Given the description of an element on the screen output the (x, y) to click on. 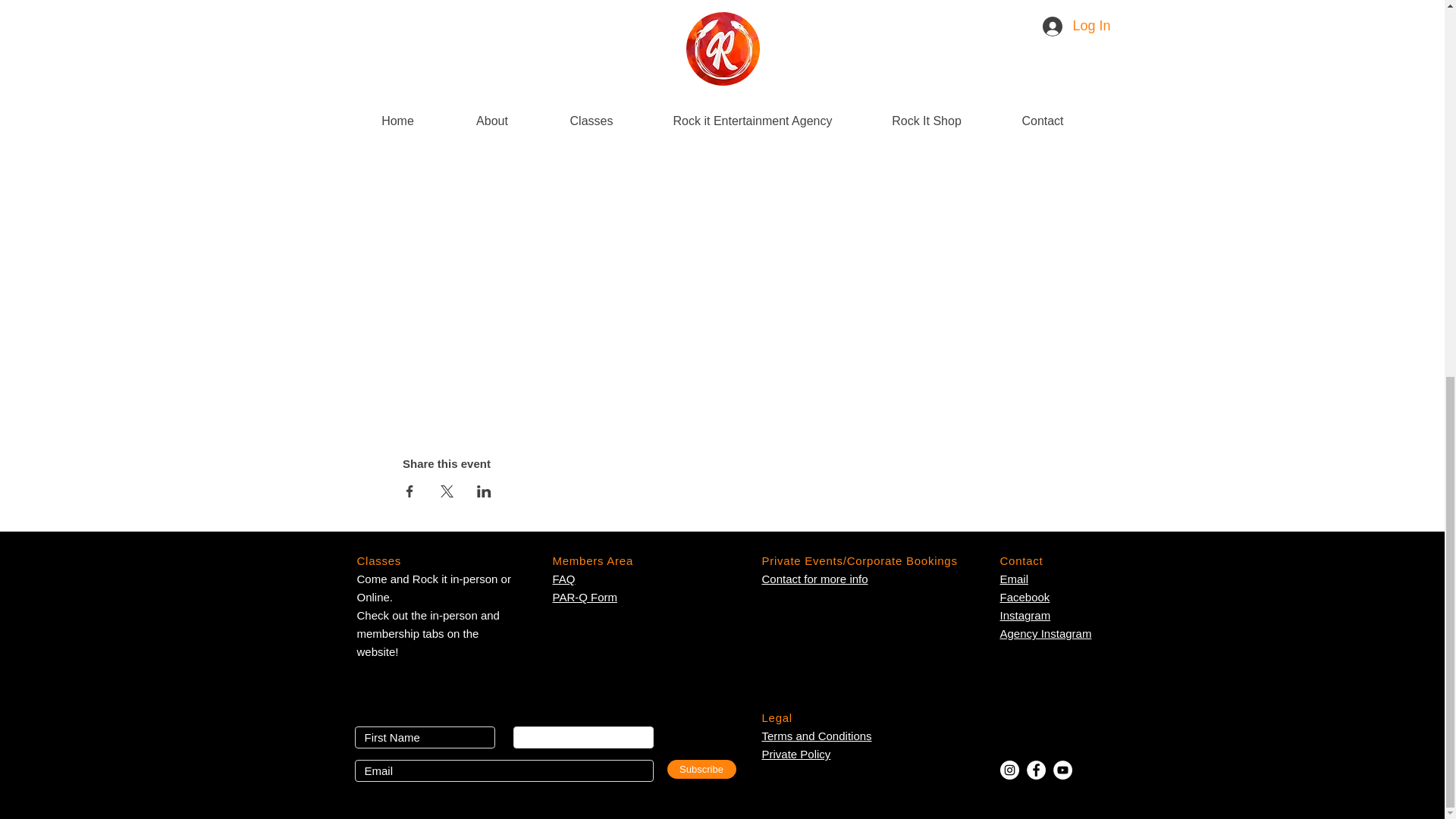
FAQ (563, 578)
Facebook (1044, 624)
Email (1023, 596)
Contact for more info (1012, 578)
Members Area (814, 578)
Checkout (592, 560)
Private Policy (914, 94)
Terms and Conditions (795, 753)
PAR-Q Form (815, 735)
